Given the description of an element on the screen output the (x, y) to click on. 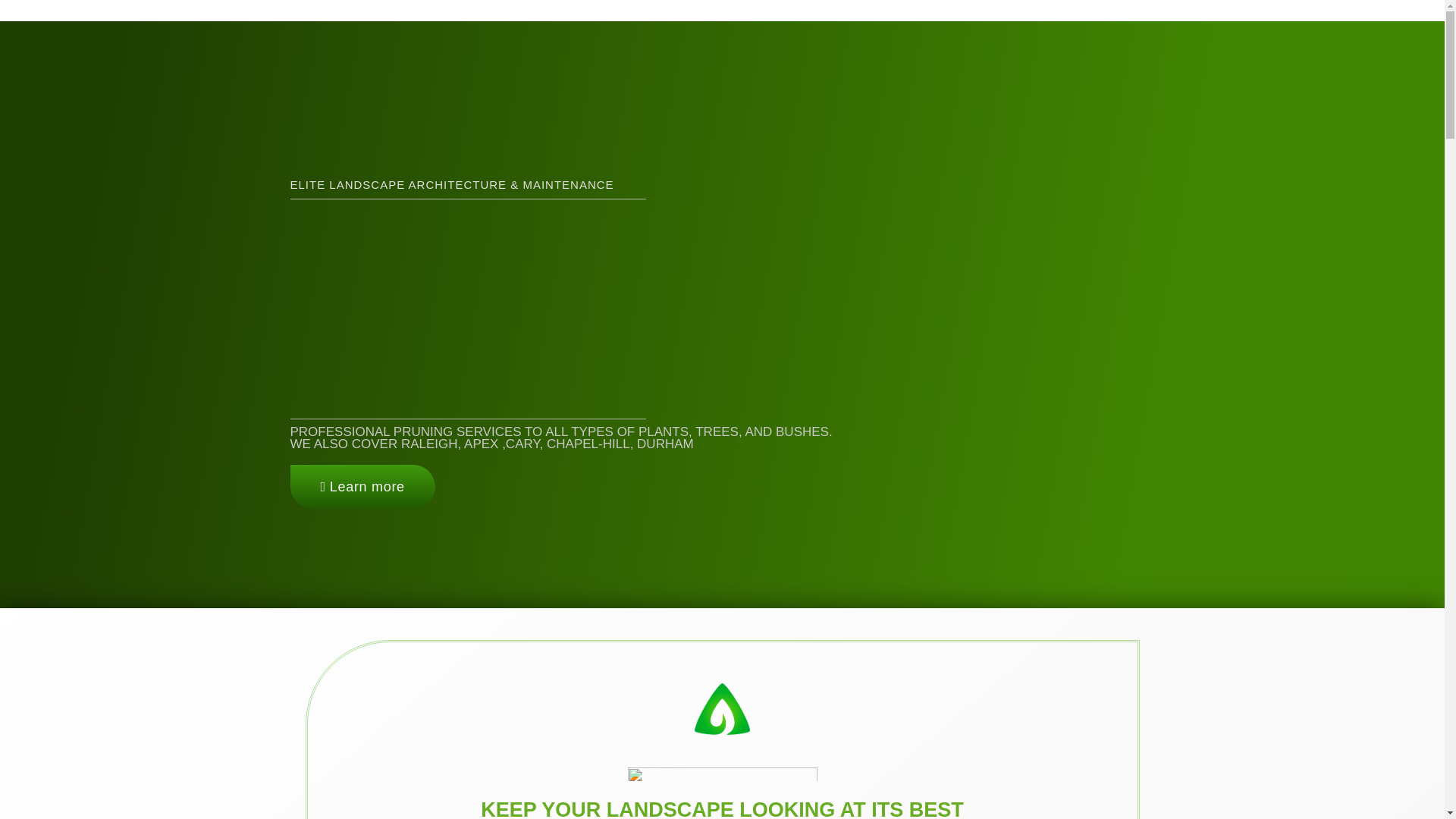
Learn more (361, 486)
